Given the description of an element on the screen output the (x, y) to click on. 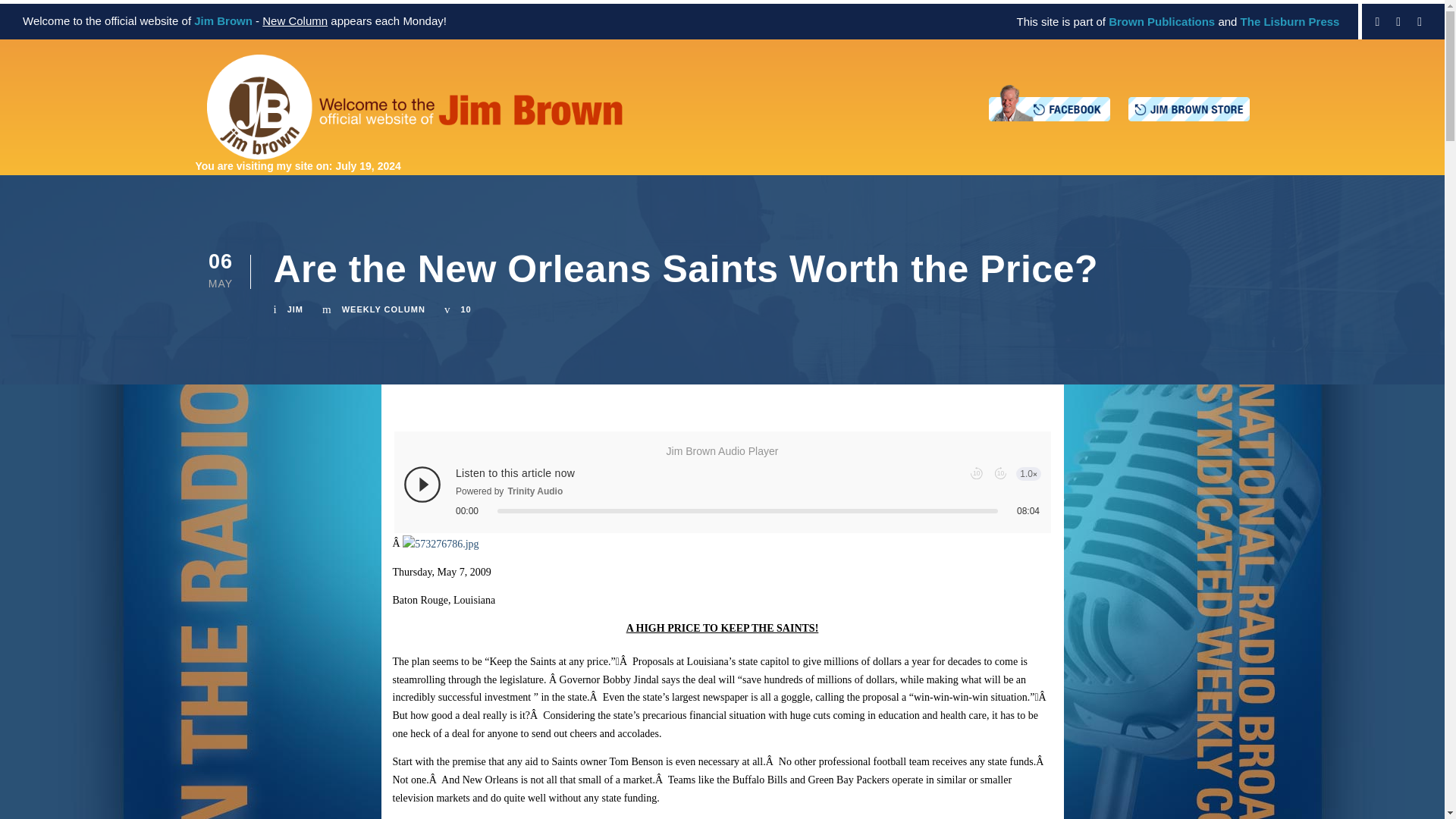
JIM (294, 308)
Posts by Jim (294, 308)
jb-logo-wide (414, 106)
573276786.jpg (441, 542)
WEEKLY COLUMN (383, 308)
New Column (294, 20)
Trinity Audio Player (722, 491)
